Given the description of an element on the screen output the (x, y) to click on. 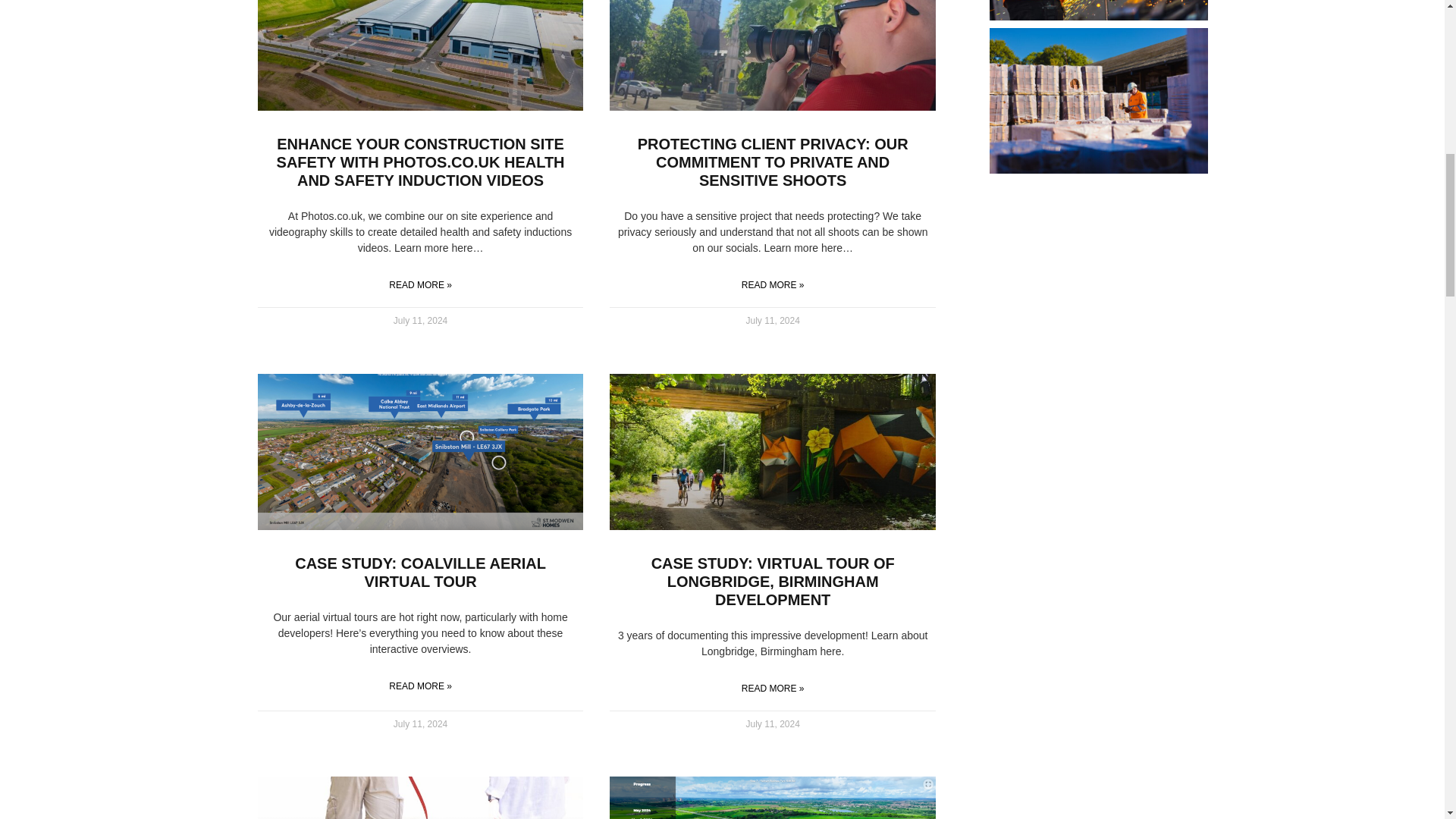
CASE STUDY: COALVILLE AERIAL VIRTUAL TOUR (420, 572)
